Given the description of an element on the screen output the (x, y) to click on. 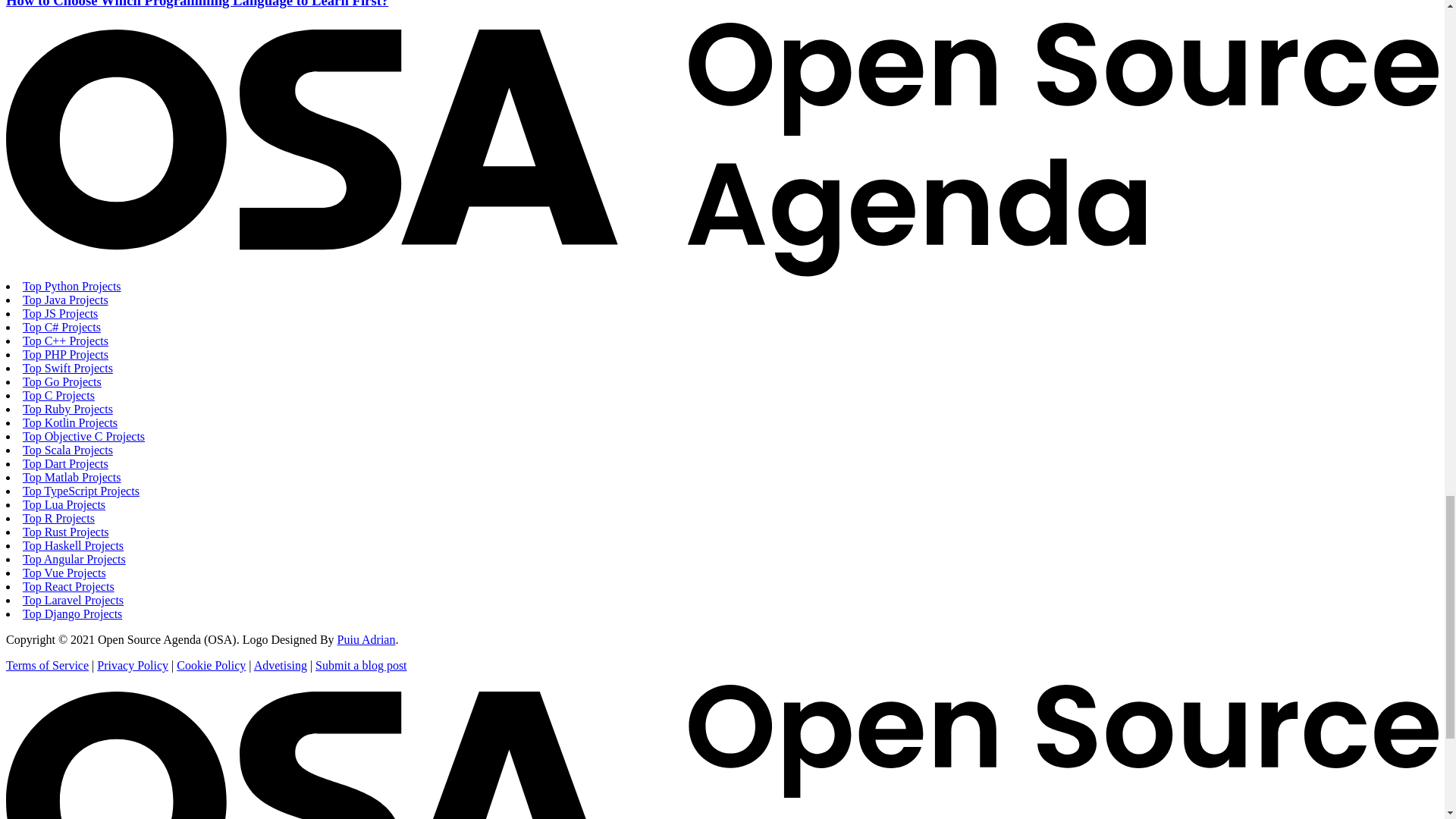
Top Swift Projects (68, 367)
Top Python Projects (71, 286)
Top PHP Projects (65, 354)
Top JS Projects (60, 313)
Top Java Projects (65, 299)
Top Go Projects (62, 381)
